Given the description of an element on the screen output the (x, y) to click on. 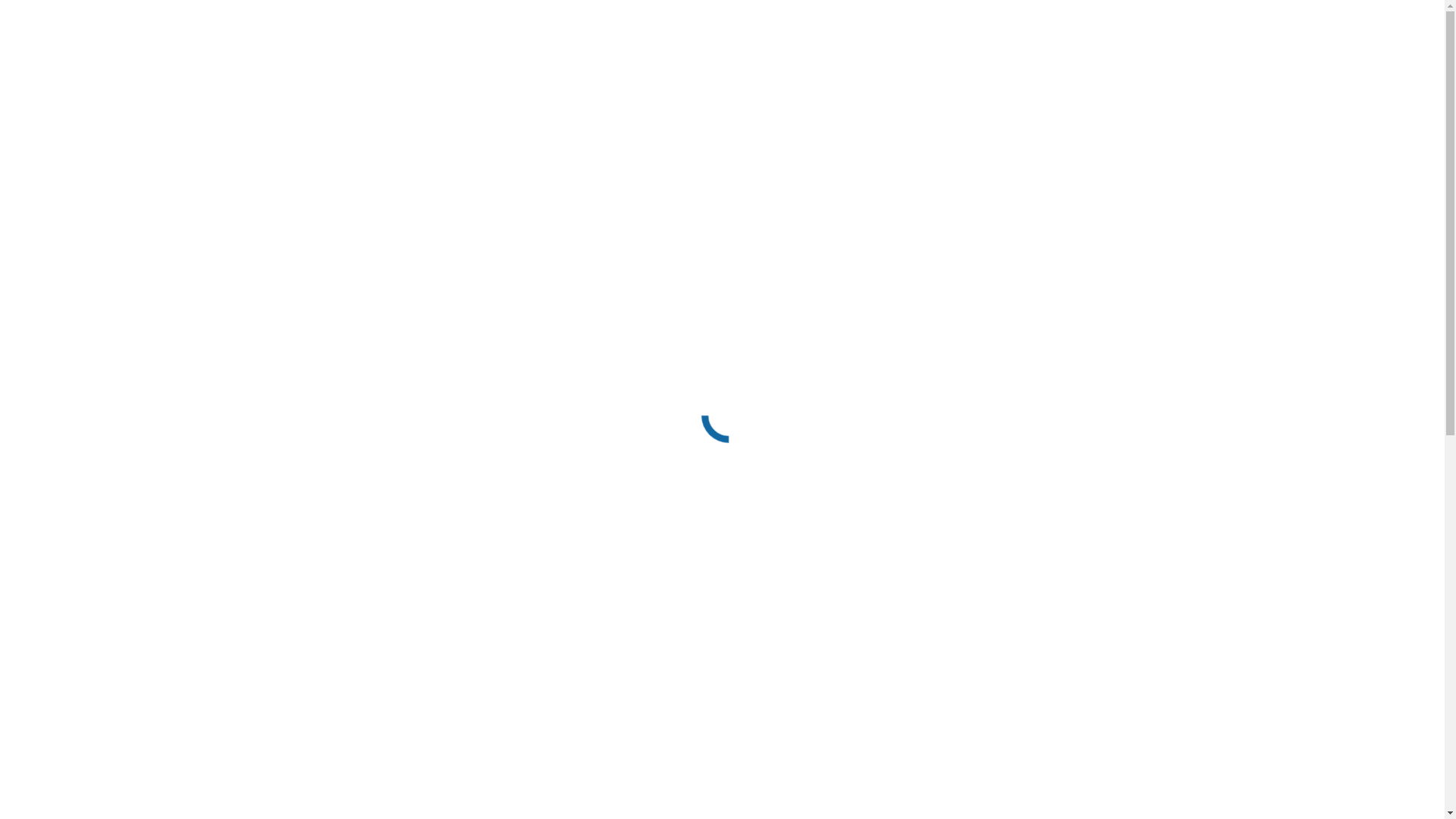
Our Affiliates Element type: text (99, 415)
Skip to content Element type: text (42, 12)
Six Sigma Australia Element type: text (114, 347)
News Element type: text (80, 212)
Lean Six Sigma Consultant Element type: text (133, 360)
Home Element type: text (50, 624)
Lean Six Sigma Overview Element type: text (130, 157)
Events Element type: text (52, 294)
Contact us Element type: text (61, 524)
Accreditation Element type: text (69, 442)
Consultancy Element type: text (66, 253)
Our Affiliates Element type: text (99, 198)
Events Element type: text (52, 511)
Clients & Testimonials Element type: text (122, 171)
About Us Element type: text (59, 116)
Services Element type: text (56, 239)
Consultancy Element type: text (66, 470)
Contact us Element type: text (61, 307)
Courses Element type: text (55, 483)
Lean Six Sigma Overview Element type: text (130, 374)
Our Videos Element type: text (94, 401)
Lean Six Sigma Consultant Element type: text (133, 144)
Online Training Element type: text (74, 280)
News Element type: text (80, 429)
About Us Element type: text (59, 333)
Clients & Testimonials Element type: text (122, 388)
Online Training Element type: text (74, 497)
Our Videos Element type: text (94, 184)
Services Element type: text (56, 456)
Six Sigma Australia Element type: text (114, 130)
Courses Element type: text (55, 266)
Accreditation Element type: text (69, 225)
